Given the description of an element on the screen output the (x, y) to click on. 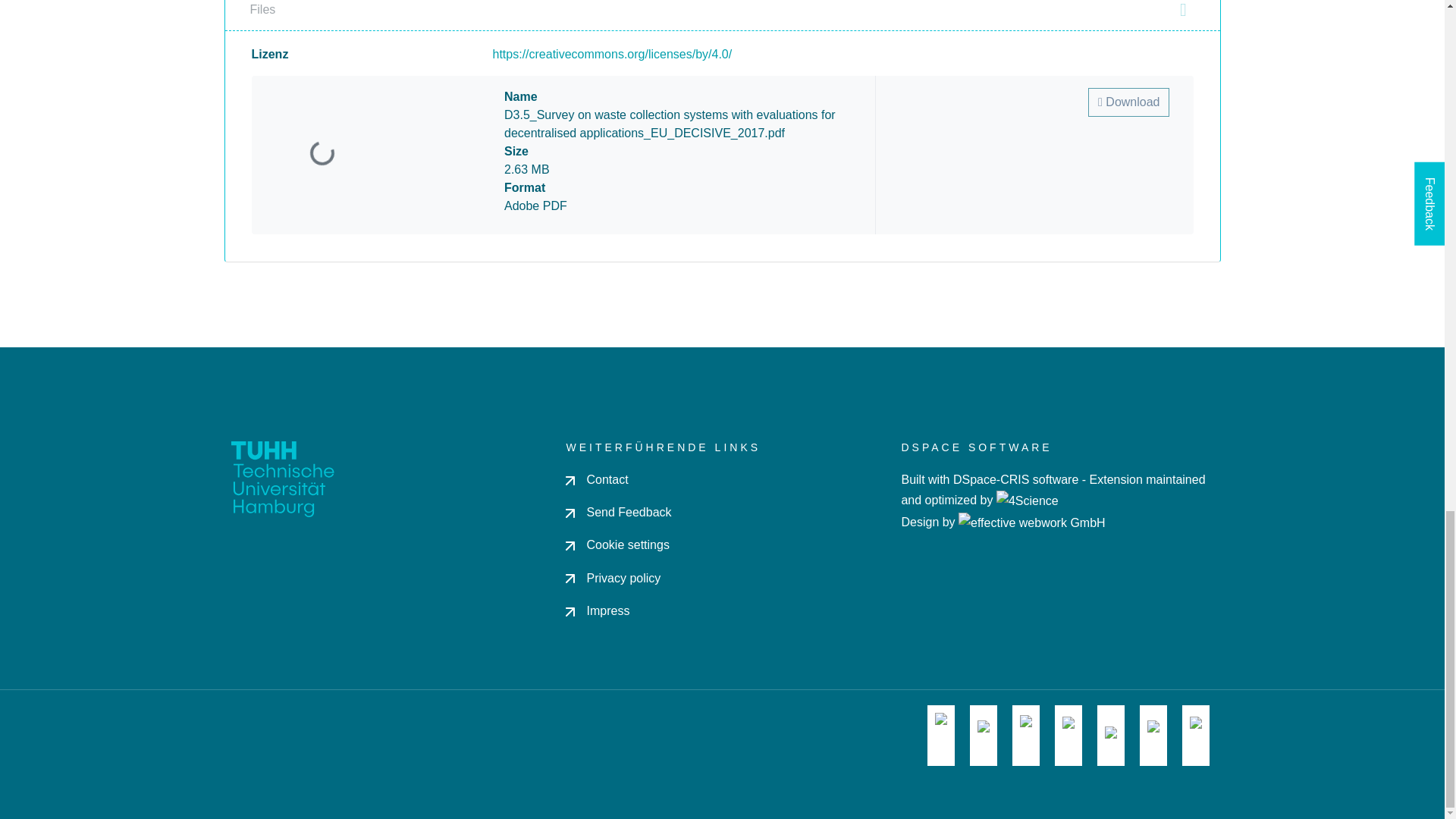
Close section (1183, 9)
effective webwork GmbH Hamburg (1031, 521)
